Given the description of an element on the screen output the (x, y) to click on. 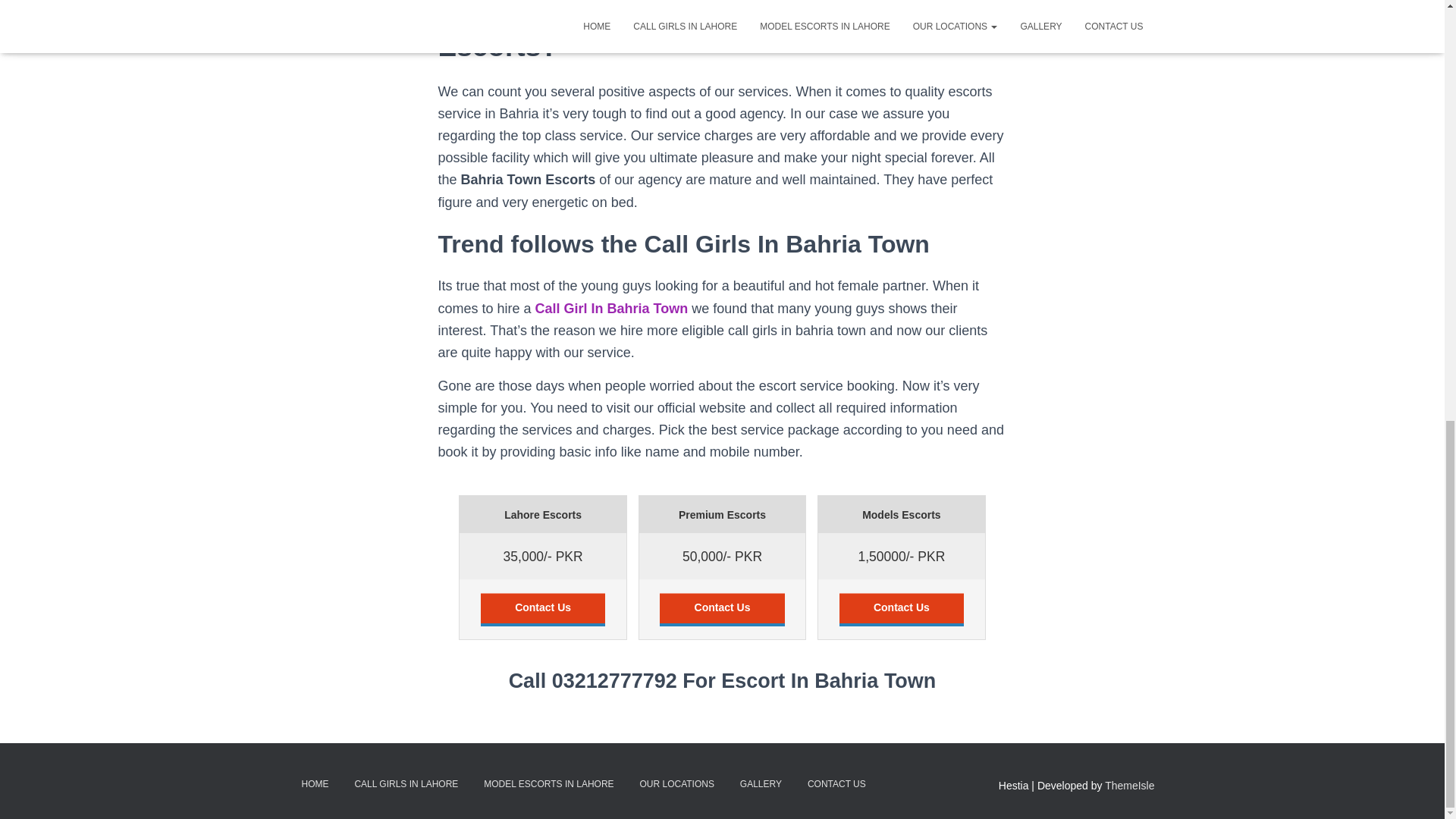
Contact Us (721, 609)
GALLERY (761, 784)
OUR LOCATIONS (676, 784)
CONTACT US (836, 784)
Contact Us (542, 609)
CALL GIRLS IN LAHORE (405, 784)
HOME (314, 784)
Call Girl In Bahria Town (611, 308)
Contact Us (901, 609)
ThemeIsle (1129, 785)
